Given the description of an element on the screen output the (x, y) to click on. 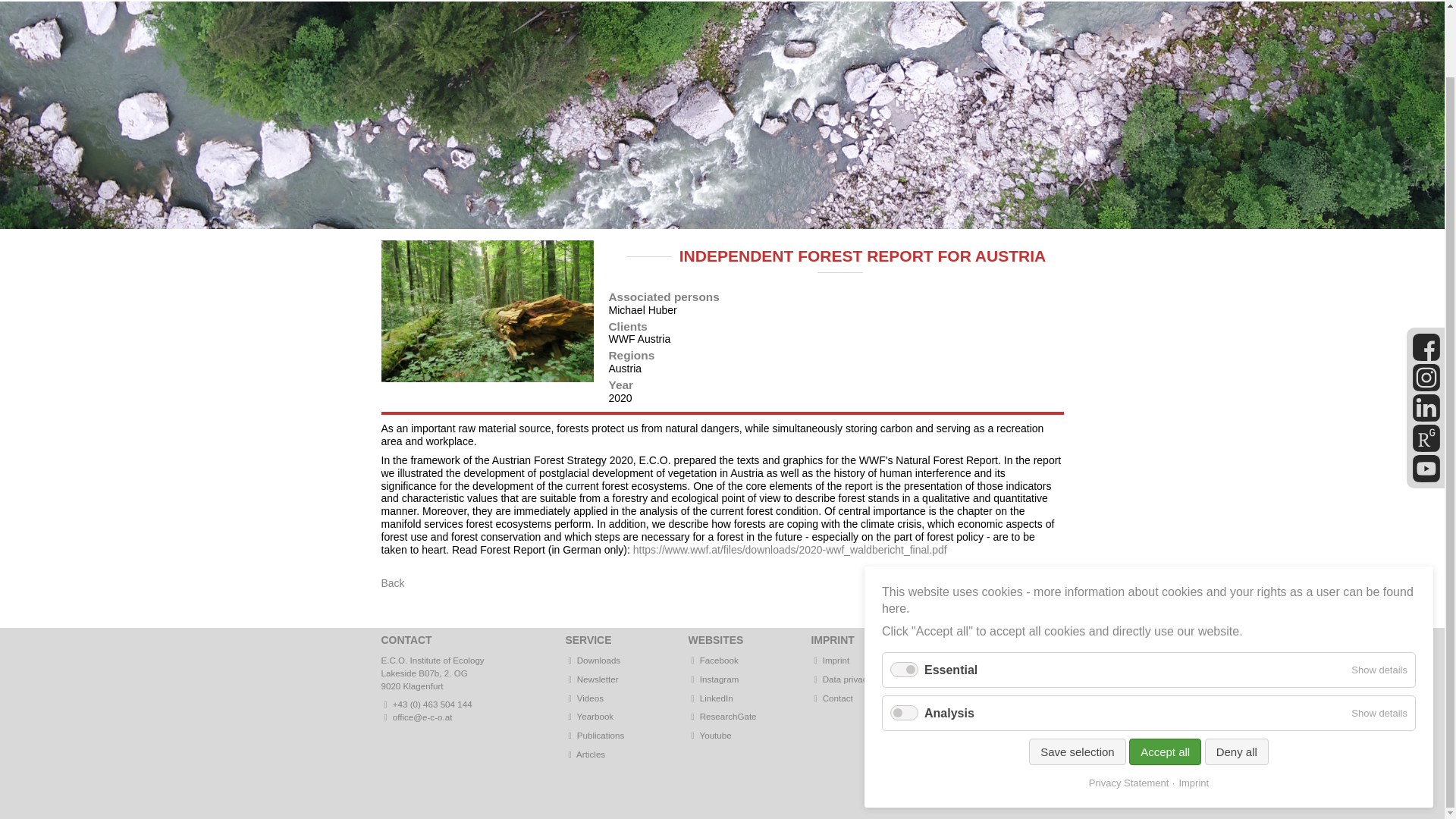
Back (392, 582)
Facebook (713, 660)
Videos (590, 697)
LinkedIn (710, 697)
Newsletter (592, 678)
Publications (600, 735)
Downloads (593, 660)
Articles (590, 754)
Yearbook (590, 716)
Instagram (713, 678)
